Given the description of an element on the screen output the (x, y) to click on. 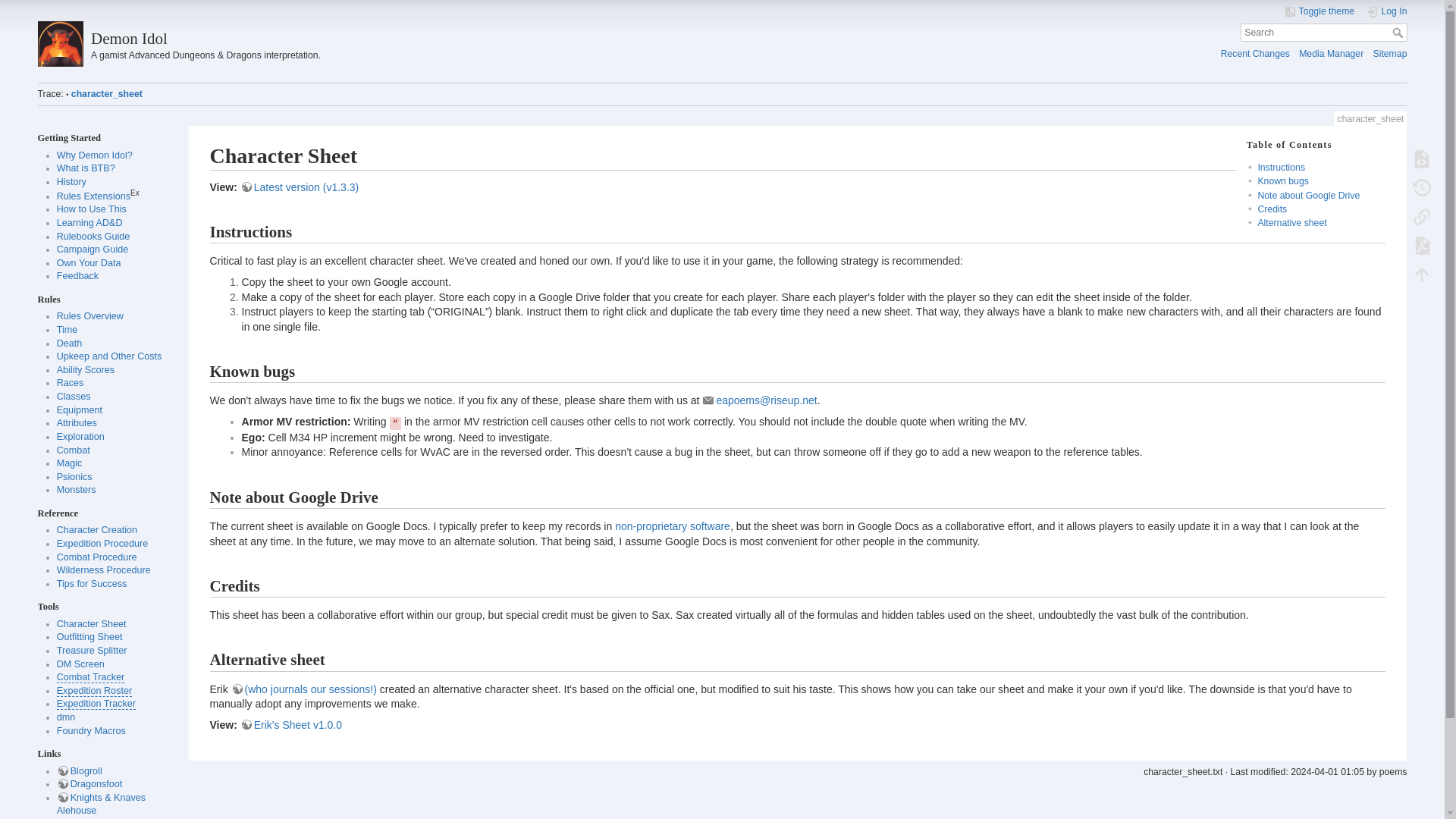
Exploration (80, 436)
Character Sheet (91, 624)
Rulebooks Guide (93, 235)
Attributes (76, 422)
Ability Scores (85, 369)
Own Your Data (88, 262)
Tips for Success (92, 583)
What is BTB? (85, 167)
Expedition Procedure (102, 543)
Psionics (74, 476)
